Given the description of an element on the screen output the (x, y) to click on. 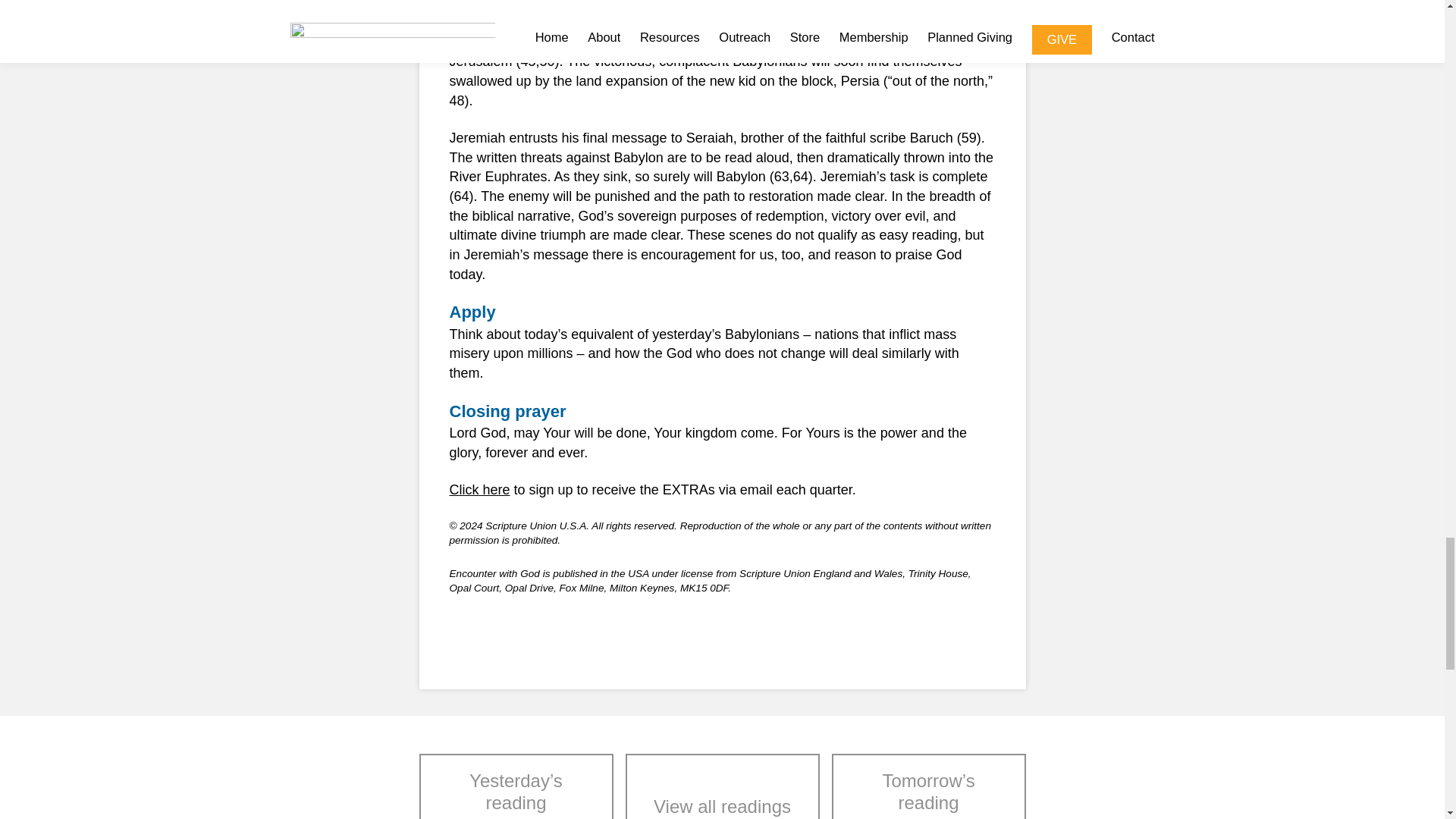
View all readings (721, 786)
Click here (478, 489)
